Given the description of an element on the screen output the (x, y) to click on. 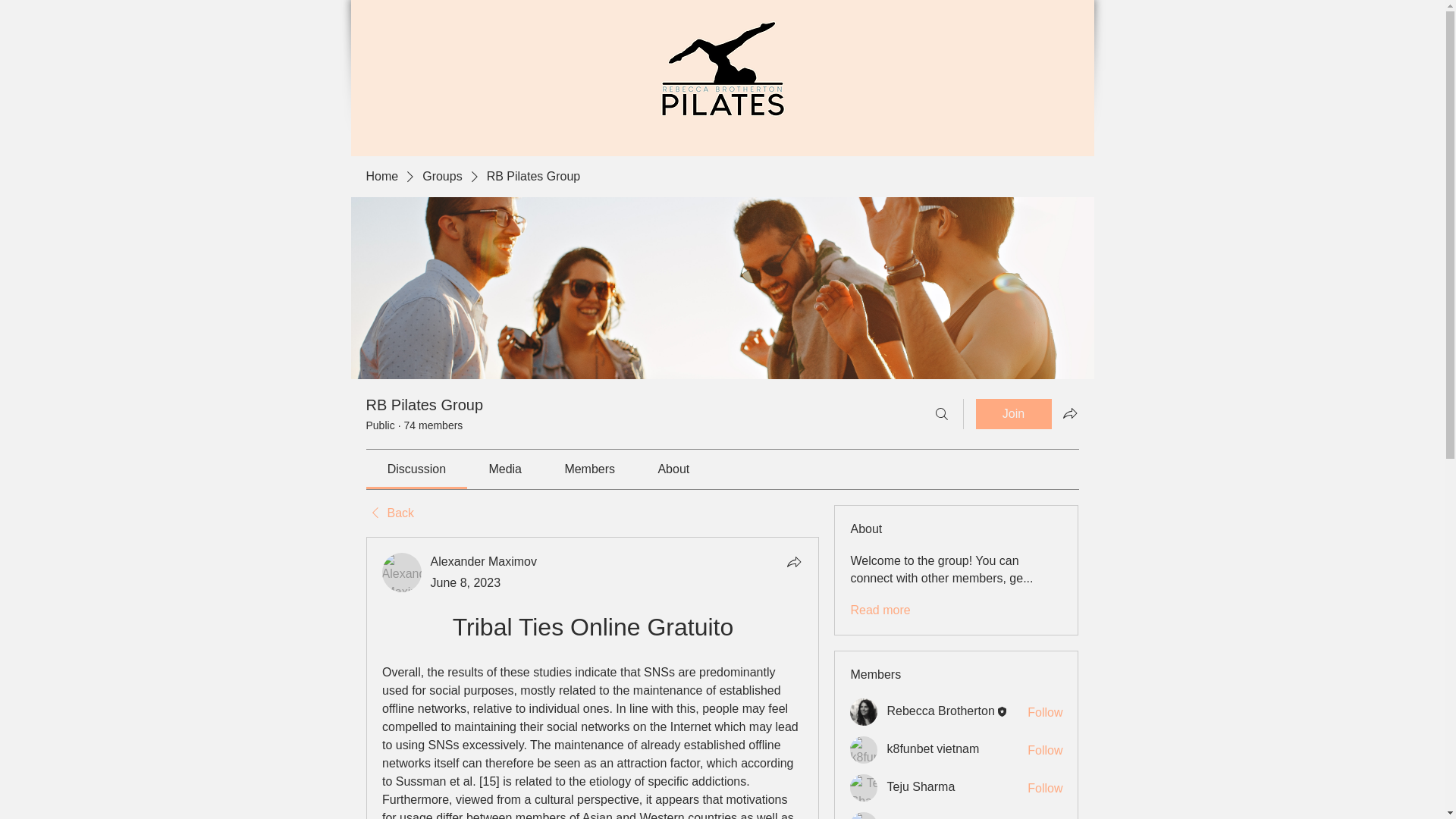
Groups (441, 176)
Home (381, 176)
Alexander Maximov (401, 572)
Follow (1044, 712)
Follow (1044, 788)
Back (389, 513)
Rebecca Brotherton (940, 710)
k8funbet vietnam (932, 748)
Teju Sharma (920, 786)
